Given the description of an element on the screen output the (x, y) to click on. 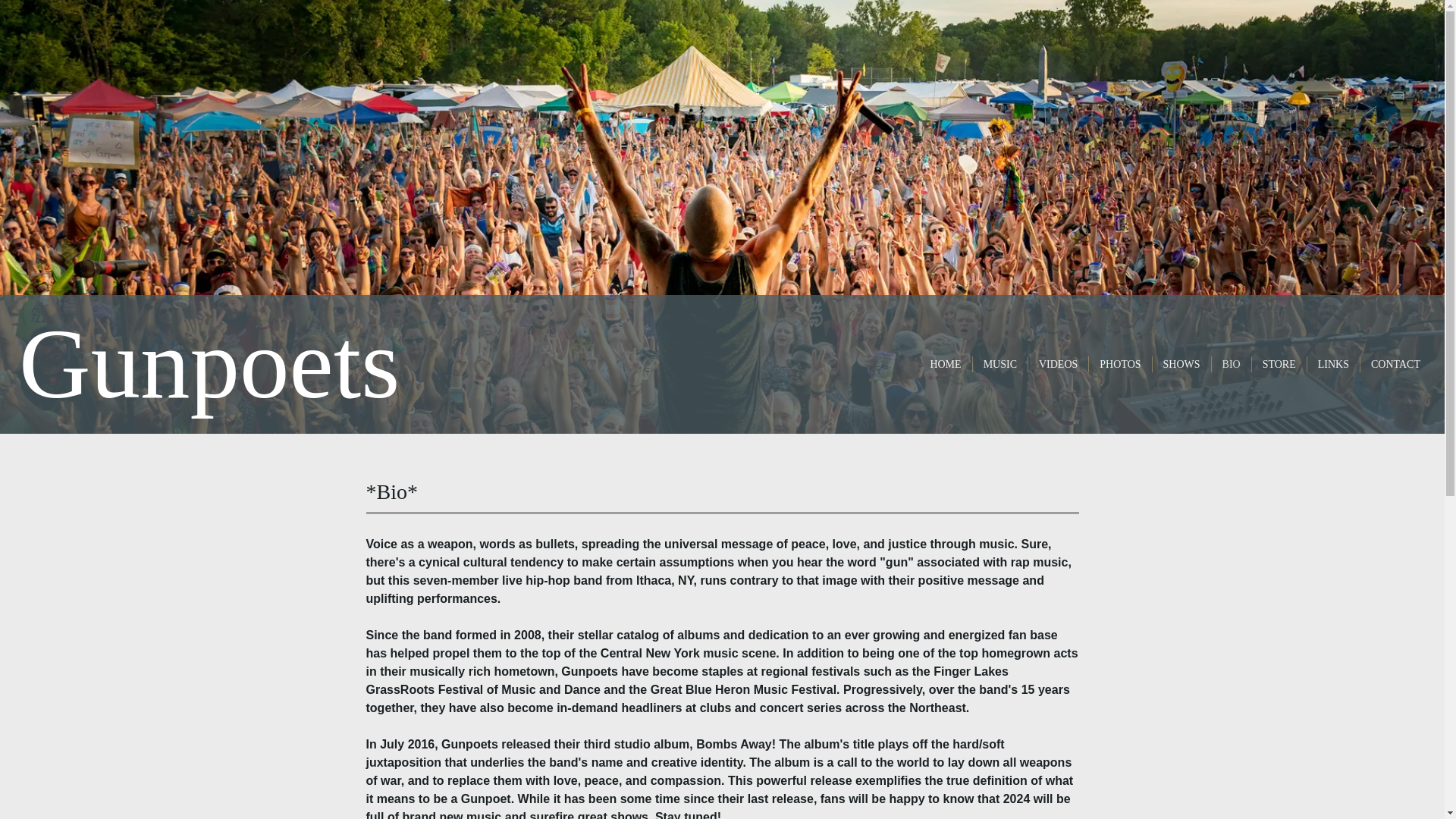
LINKS (1333, 364)
VIDEOS (1058, 364)
MUSIC (1000, 364)
STORE (1278, 364)
SHOWS (1181, 364)
PHOTOS (1119, 364)
HOME (945, 364)
Gunpoets (208, 390)
CONTACT (1396, 364)
BIO (1231, 364)
